Given the description of an element on the screen output the (x, y) to click on. 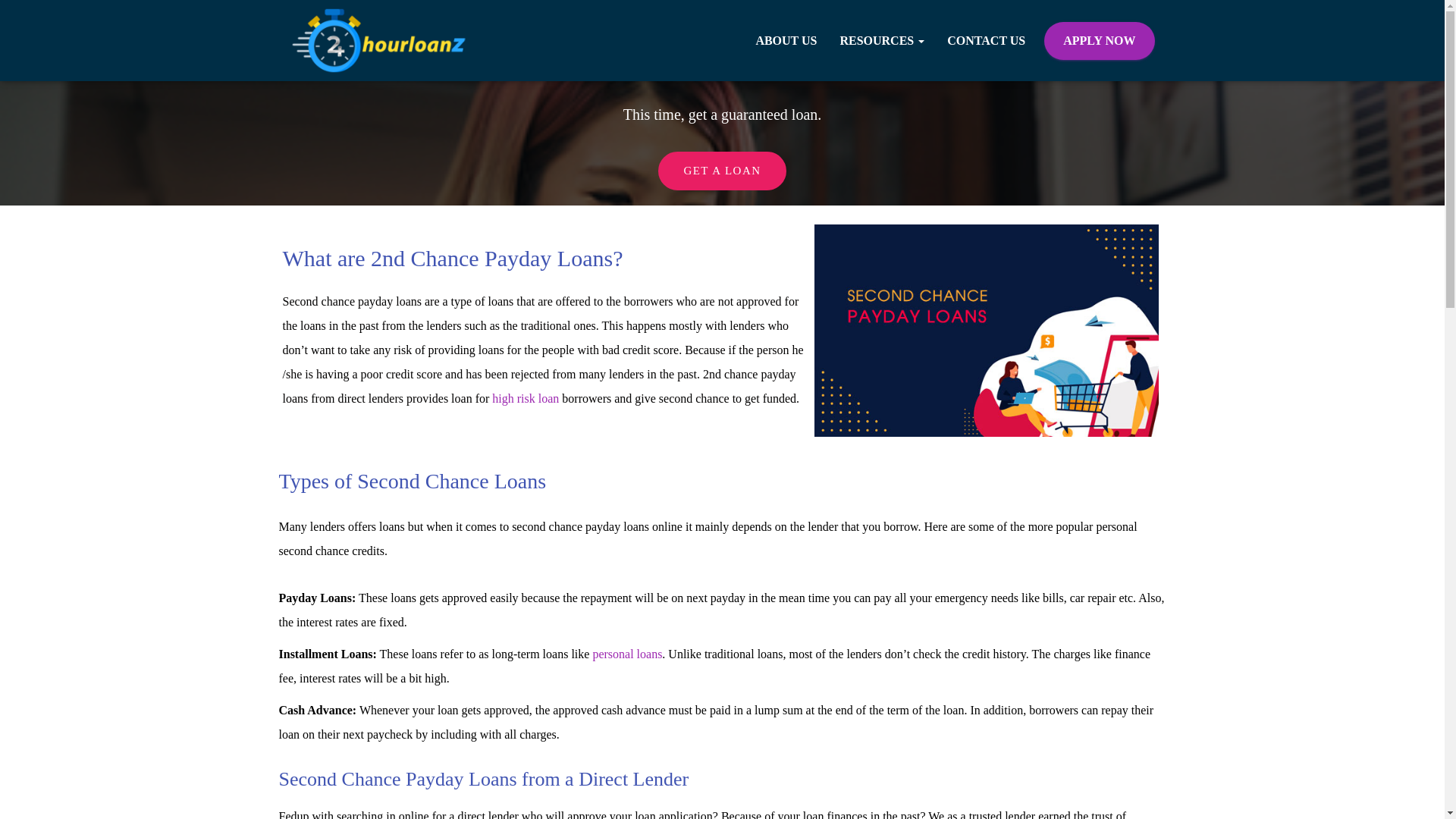
ABOUT US (786, 40)
APPLY NOW (1099, 40)
Resources (882, 40)
RESOURCES (882, 40)
About Us (786, 40)
high risk loan (525, 398)
24HourLoanZ (379, 40)
personal loans (627, 653)
GET A LOAN (722, 170)
CONTACT US (986, 40)
